Given the description of an element on the screen output the (x, y) to click on. 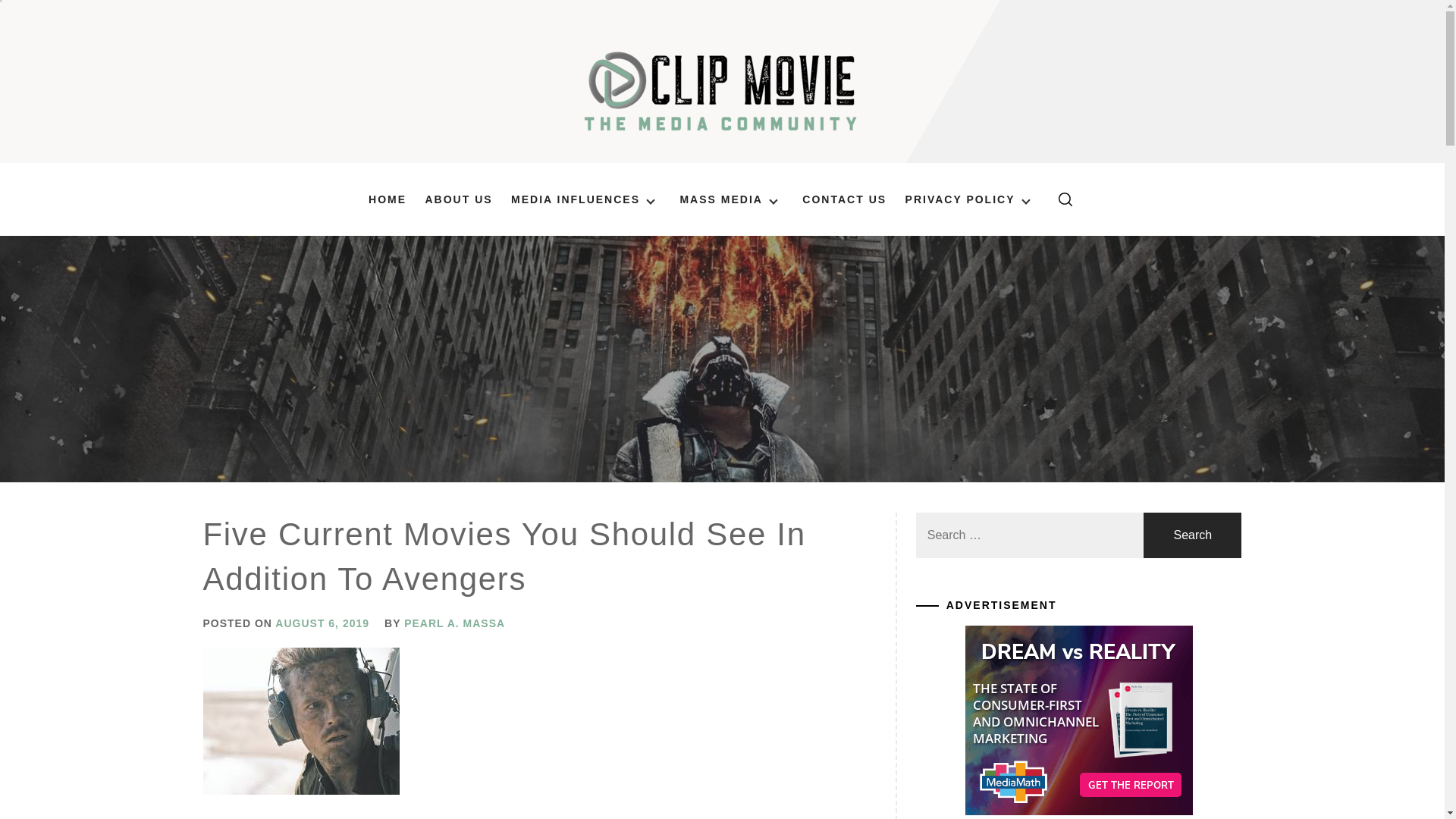
PRIVACY POLICY (970, 198)
MASS MEDIA (730, 198)
Search (1191, 534)
Search (797, 409)
ABOUT US (457, 198)
CONTACT US (843, 198)
MEDIA INFLUENCES (585, 198)
PEARL A. MASSA (454, 623)
Search (1191, 534)
AUGUST 6, 2019 (322, 623)
